Given the description of an element on the screen output the (x, y) to click on. 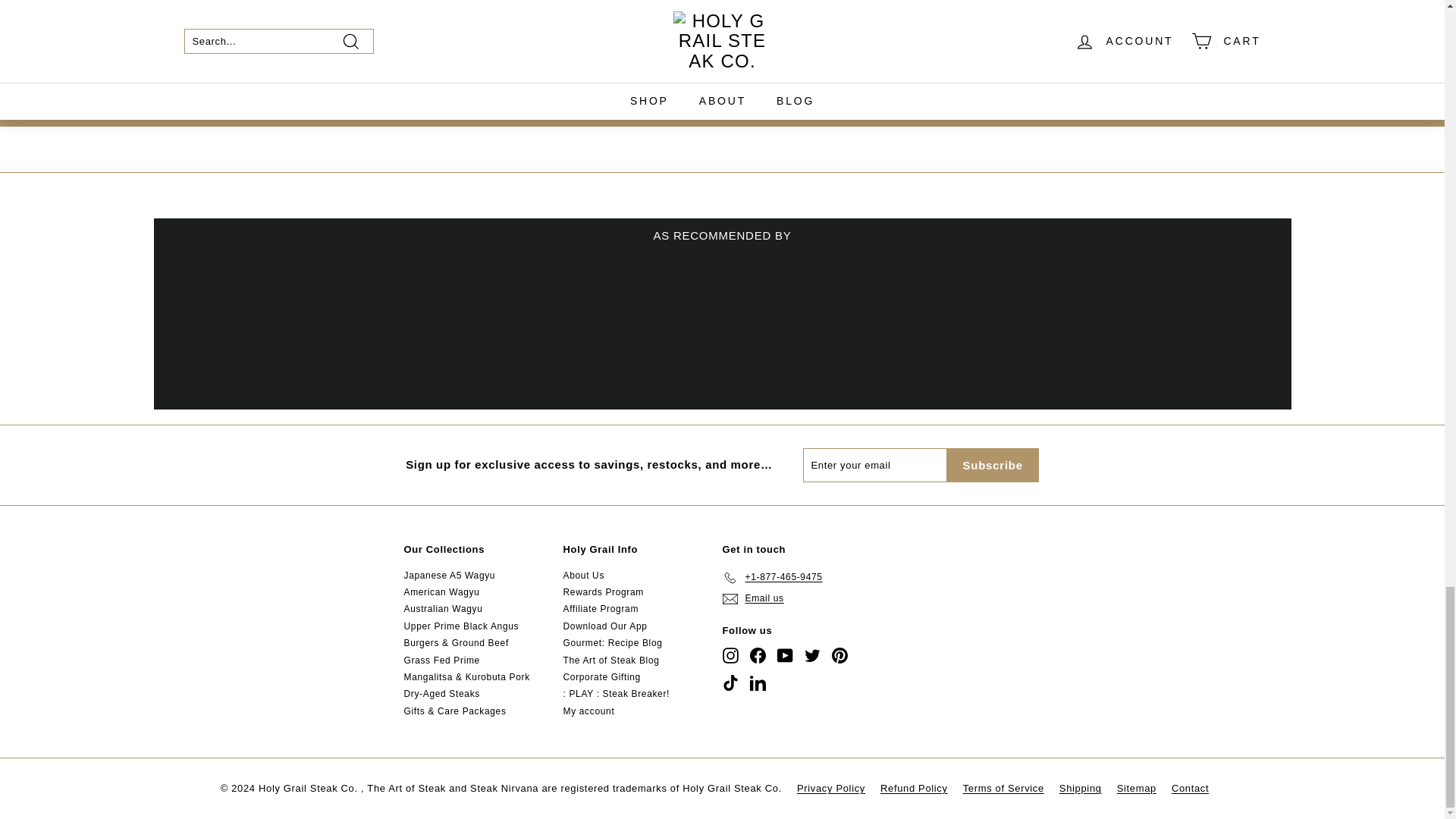
Holy Grail Steak Co. on Twitter (811, 655)
Holy Grail Steak Co. on YouTube (784, 655)
Holy Grail Steak Co. on Instagram (730, 655)
Holy Grail Steak Co. on Pinterest (839, 655)
Holy Grail Steak Co. on Facebook (757, 655)
Holy Grail Steak Co. on TikTok (730, 682)
